Given the description of an element on the screen output the (x, y) to click on. 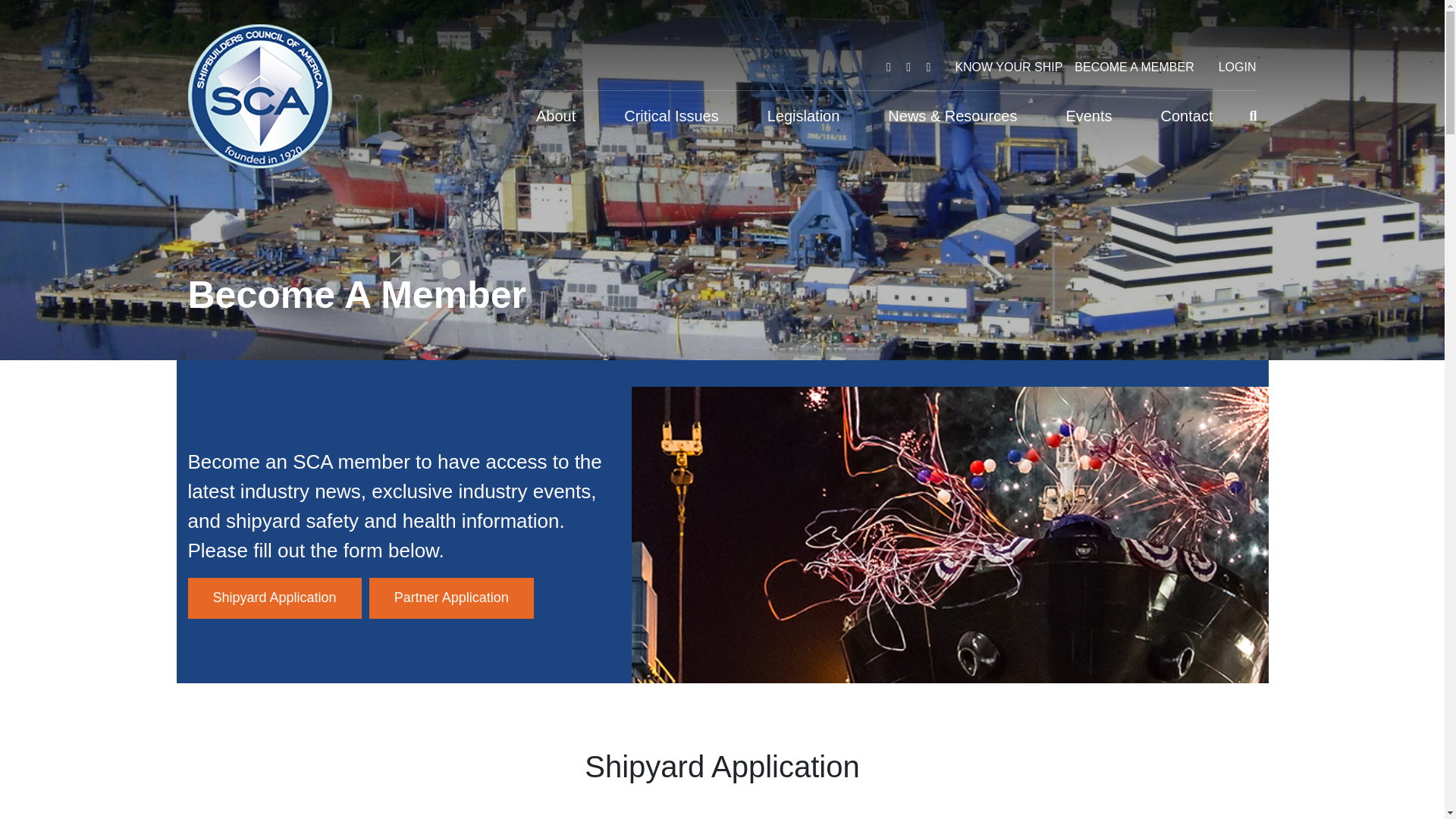
BECOME A MEMBER (1133, 66)
KNOW YOUR SHIP (1008, 66)
Events (1088, 115)
LOGIN (1237, 67)
Critical Issues (670, 115)
Legislation (803, 115)
Contact (1186, 115)
Shipyard Application (274, 598)
Partner Application (451, 598)
About (556, 115)
